Given the description of an element on the screen output the (x, y) to click on. 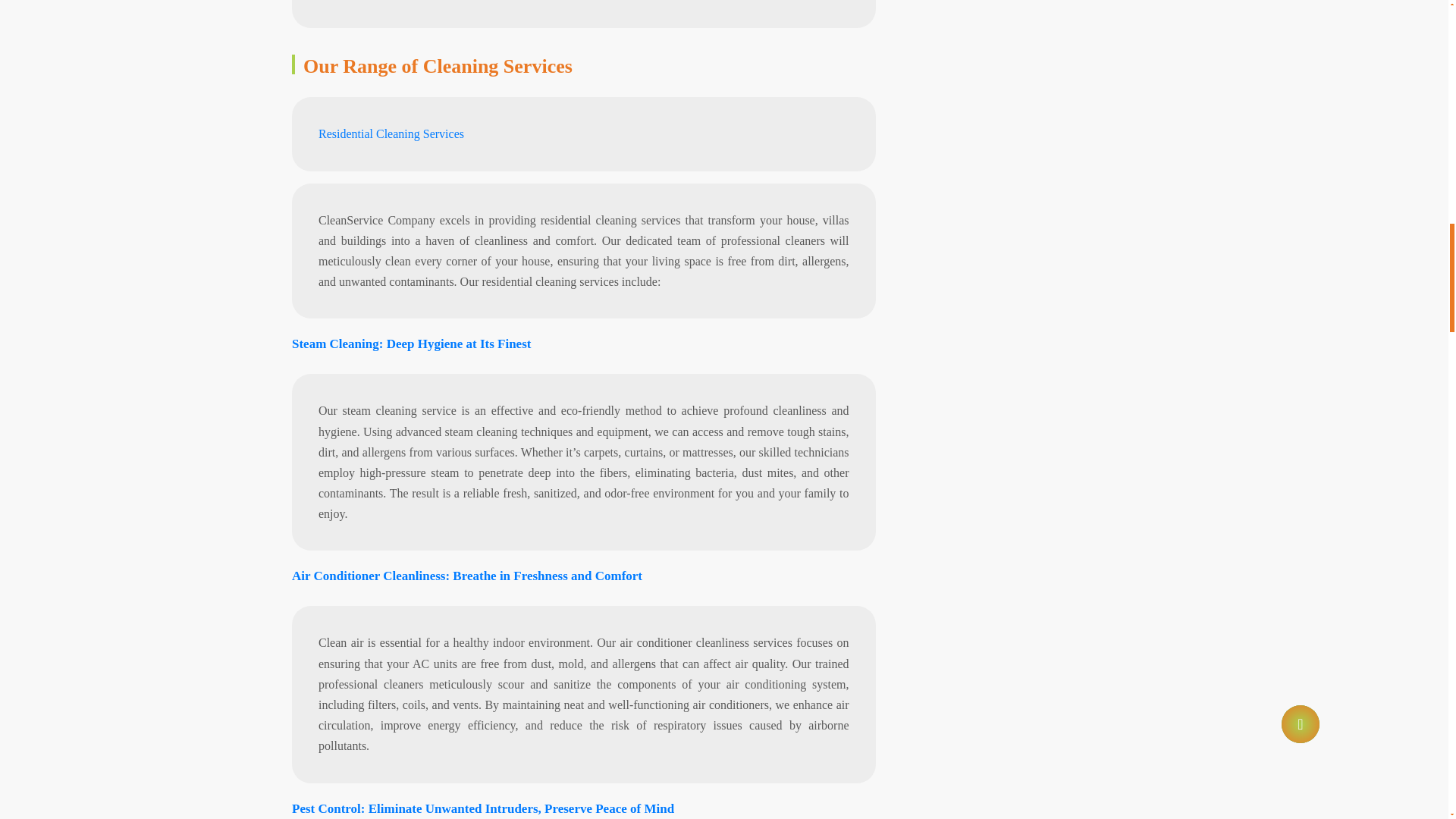
Steam Cleaning: Deep Hygiene at Its Finest (411, 247)
Residential Cleaning Services (391, 38)
